Given the description of an element on the screen output the (x, y) to click on. 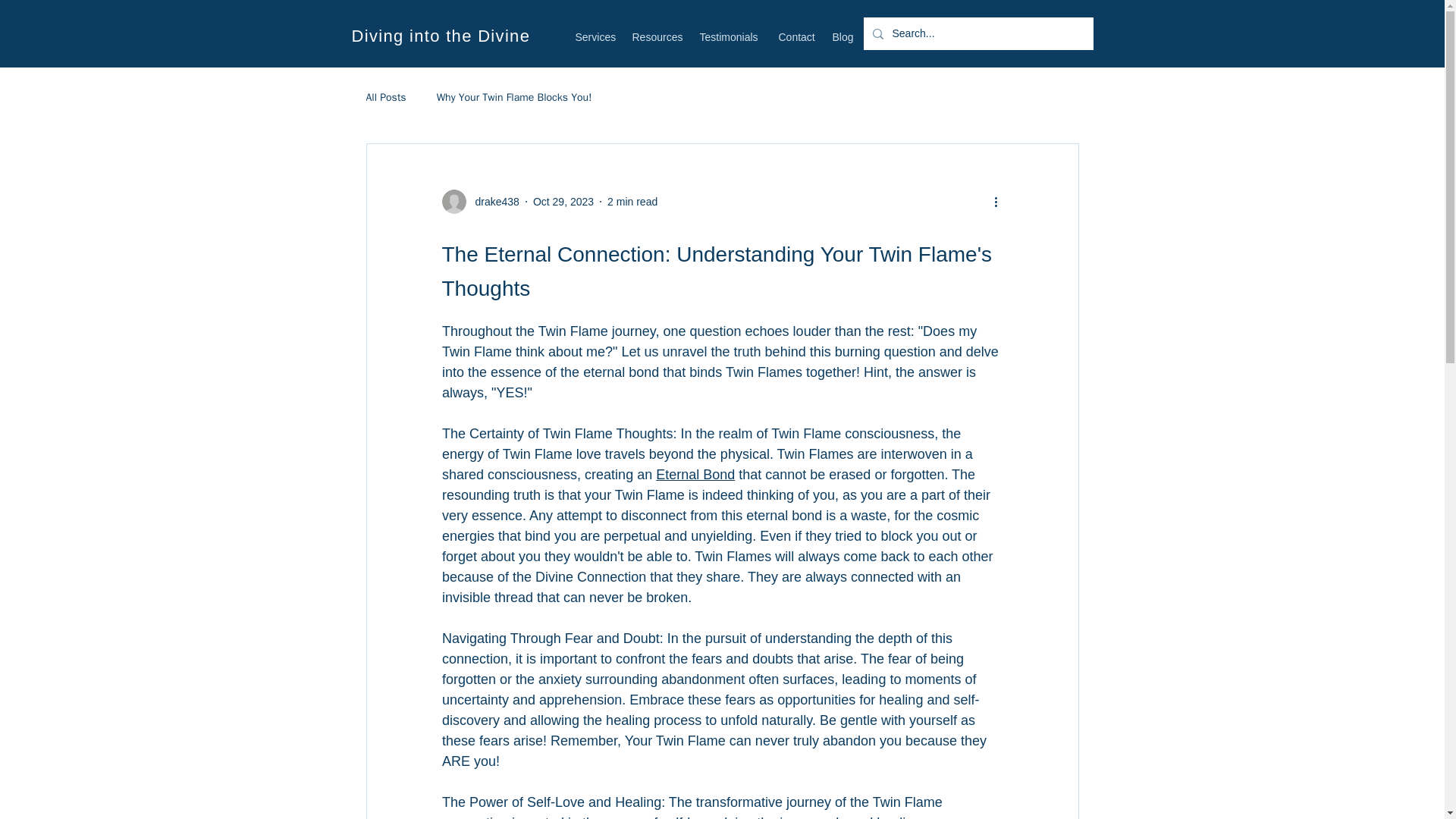
Oct 29, 2023 (563, 201)
All Posts (385, 97)
Diving into the Divine (441, 35)
Blog (843, 36)
drake438 (479, 201)
Testimonials (730, 36)
Resources (658, 36)
Why Your Twin Flame Blocks You! (514, 97)
Contact (797, 36)
2 min read (632, 201)
drake438 (491, 201)
